Given the description of an element on the screen output the (x, y) to click on. 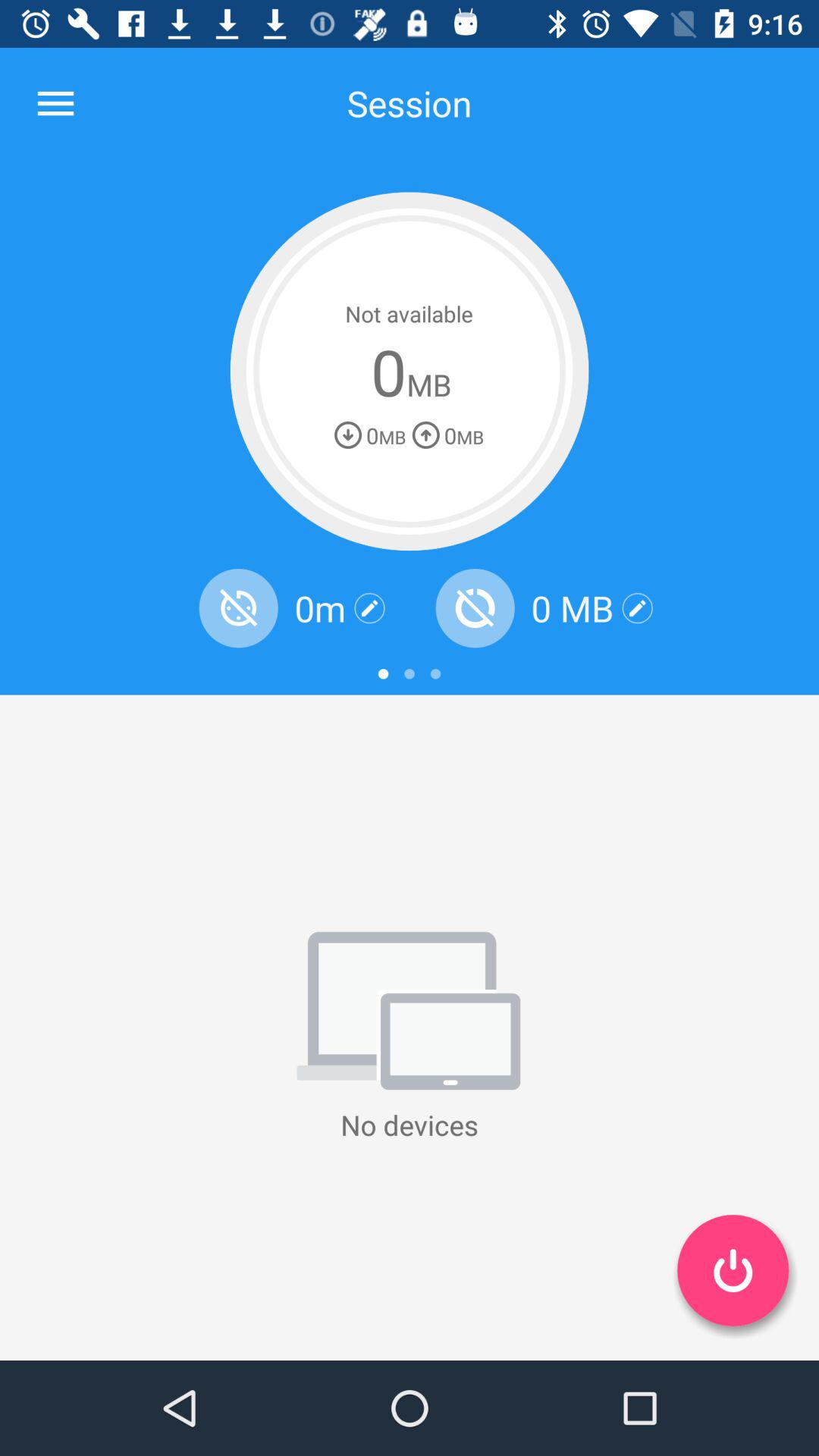
choose icon above the 0m item (409, 371)
